Given the description of an element on the screen output the (x, y) to click on. 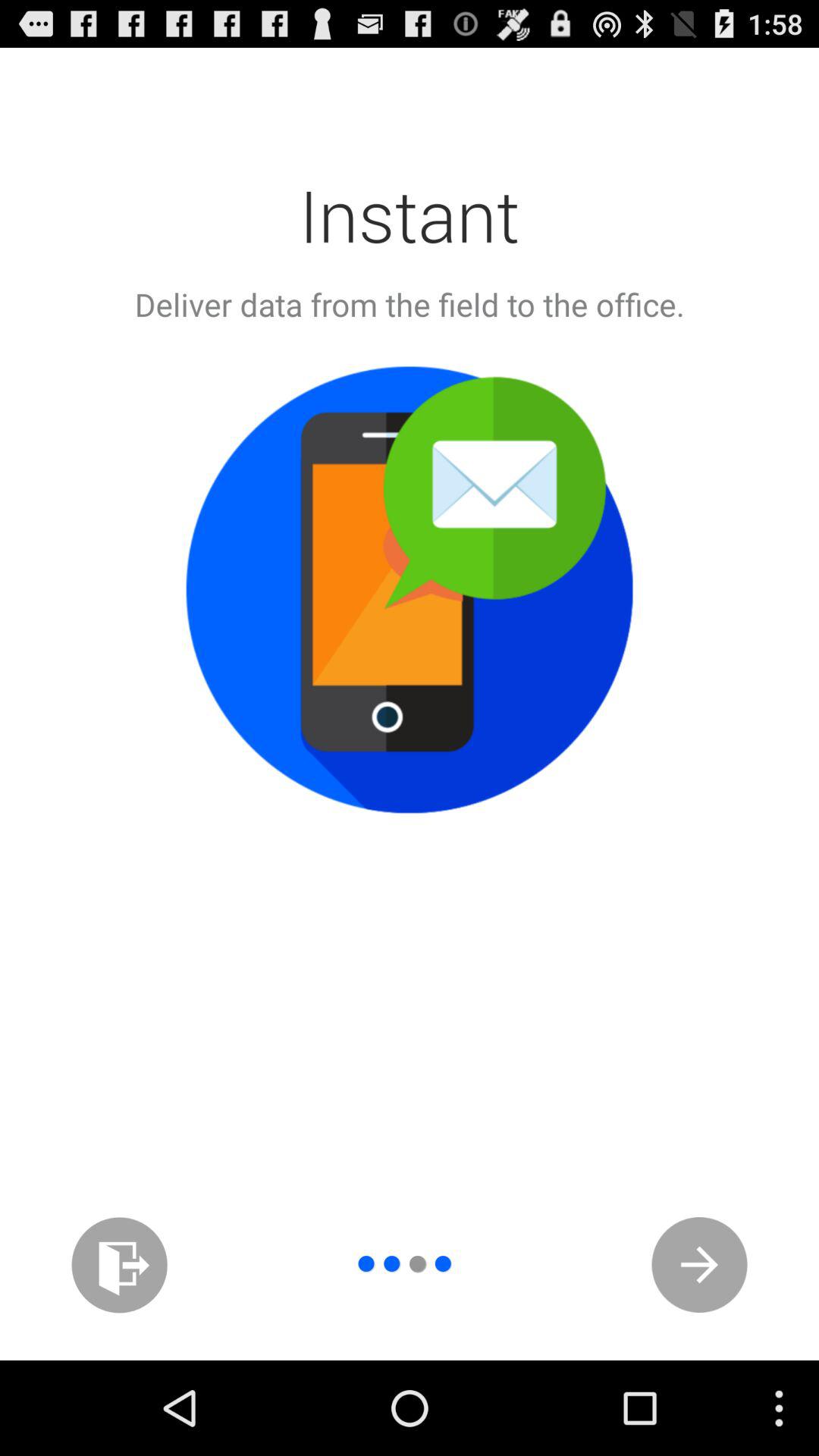
click item at the bottom right corner (699, 1264)
